Given the description of an element on the screen output the (x, y) to click on. 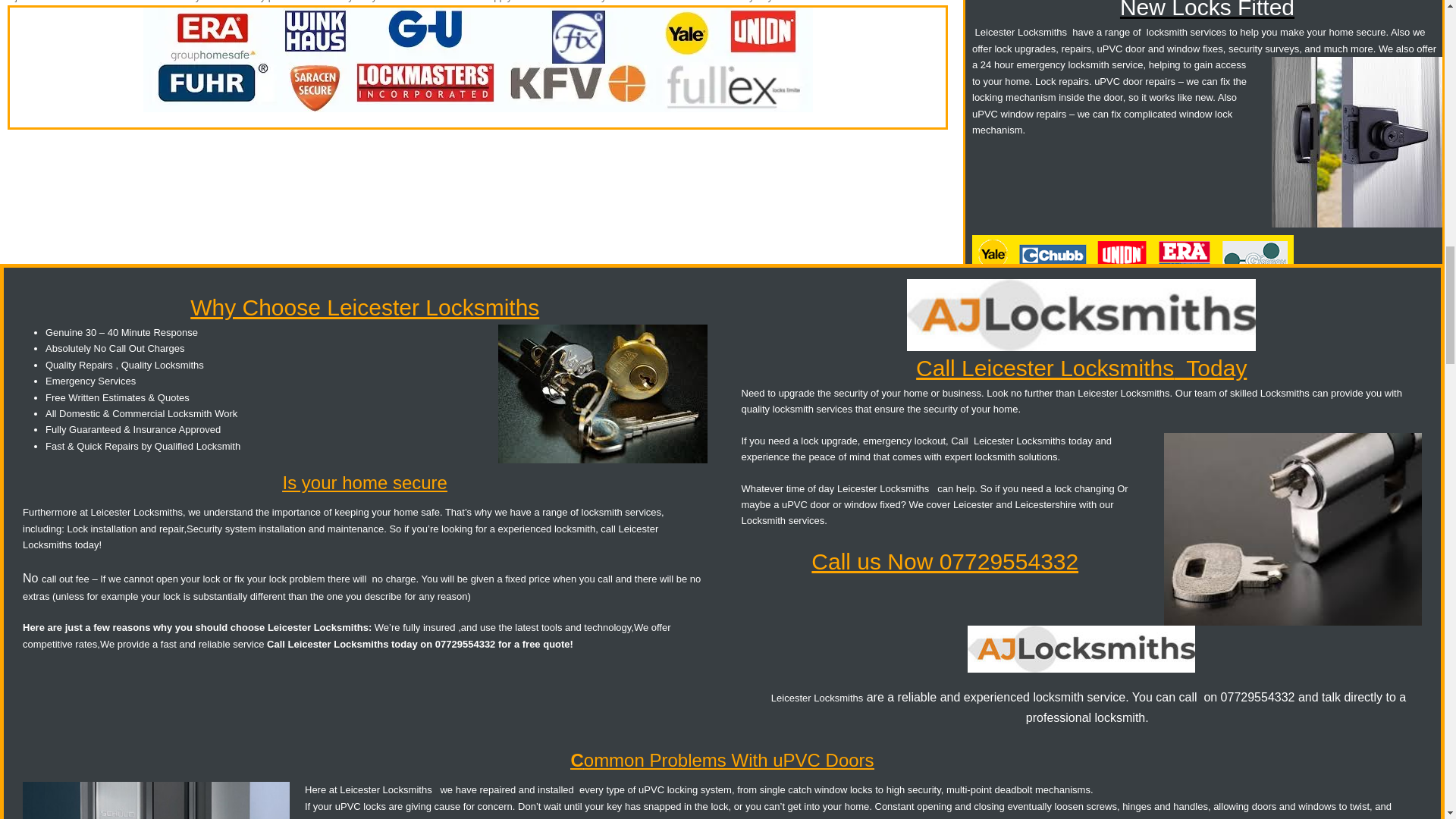
locksmith (1167, 31)
brand-logos (477, 59)
Locksmiths (903, 488)
Locksmiths (1116, 367)
Locksmith (763, 520)
